Given the description of an element on the screen output the (x, y) to click on. 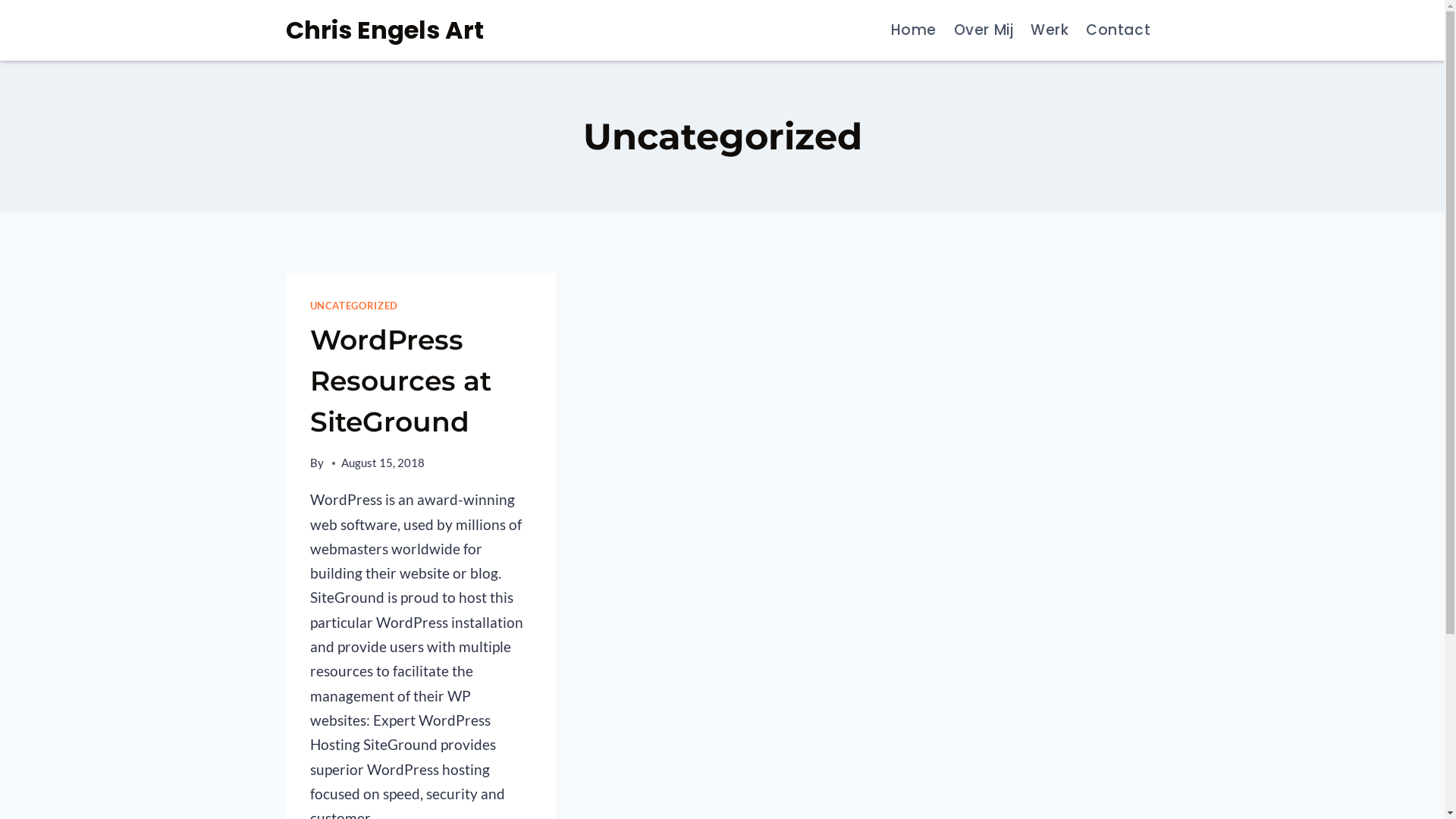
Home Element type: text (912, 29)
Chris Engels Art Element type: text (384, 29)
Contact Element type: text (1118, 29)
UNCATEGORIZED Element type: text (353, 305)
Werk Element type: text (1049, 29)
Over Mij Element type: text (982, 29)
WordPress Resources at SiteGround Element type: text (399, 380)
